Given the description of an element on the screen output the (x, y) to click on. 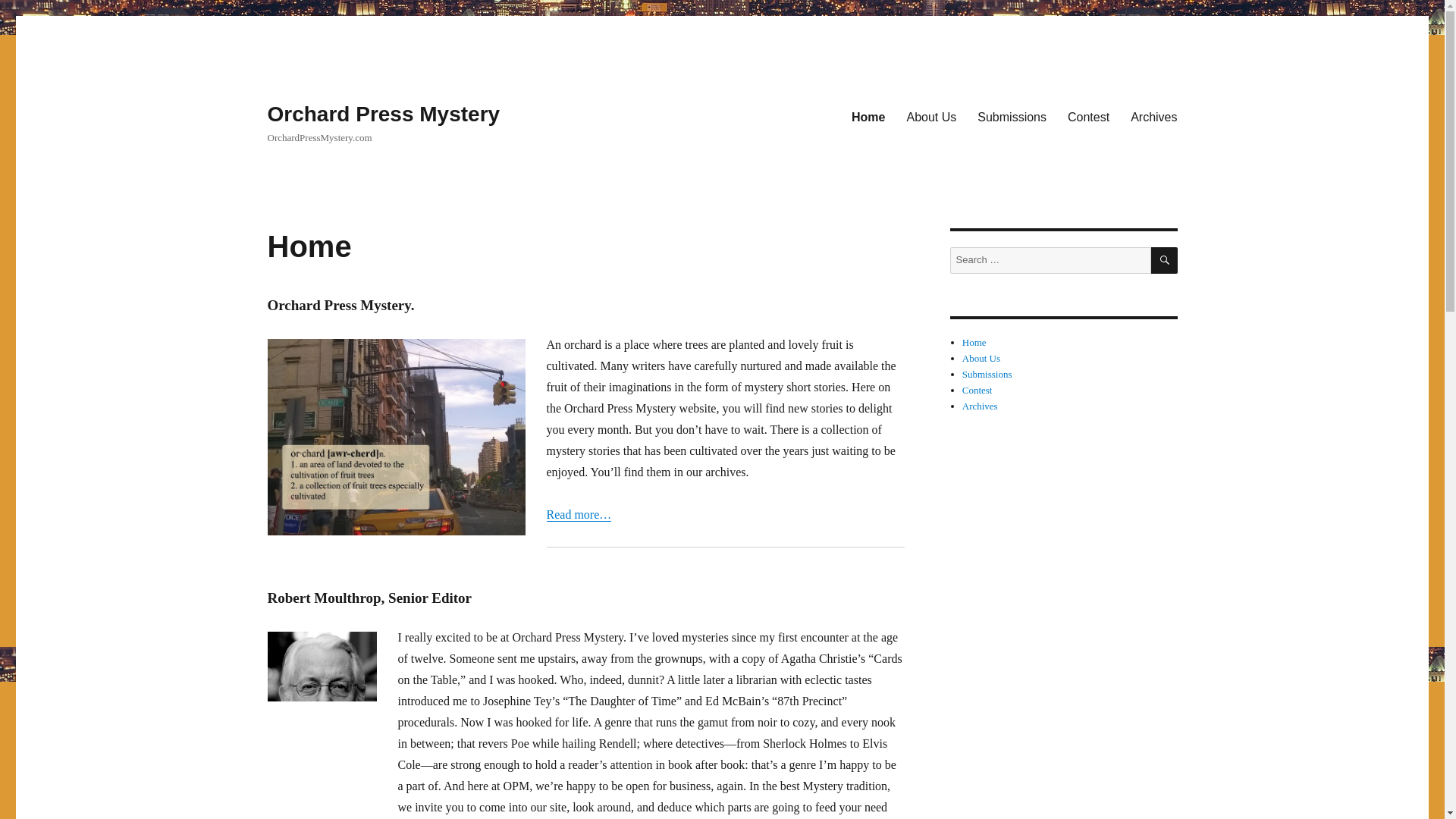
About Us (930, 116)
Archives (1153, 116)
About Us (981, 357)
Submissions (1011, 116)
Contest (977, 389)
Contest (1088, 116)
Home (868, 116)
Archives (979, 405)
Home (974, 342)
Orchard Press Mystery (382, 114)
